Given the description of an element on the screen output the (x, y) to click on. 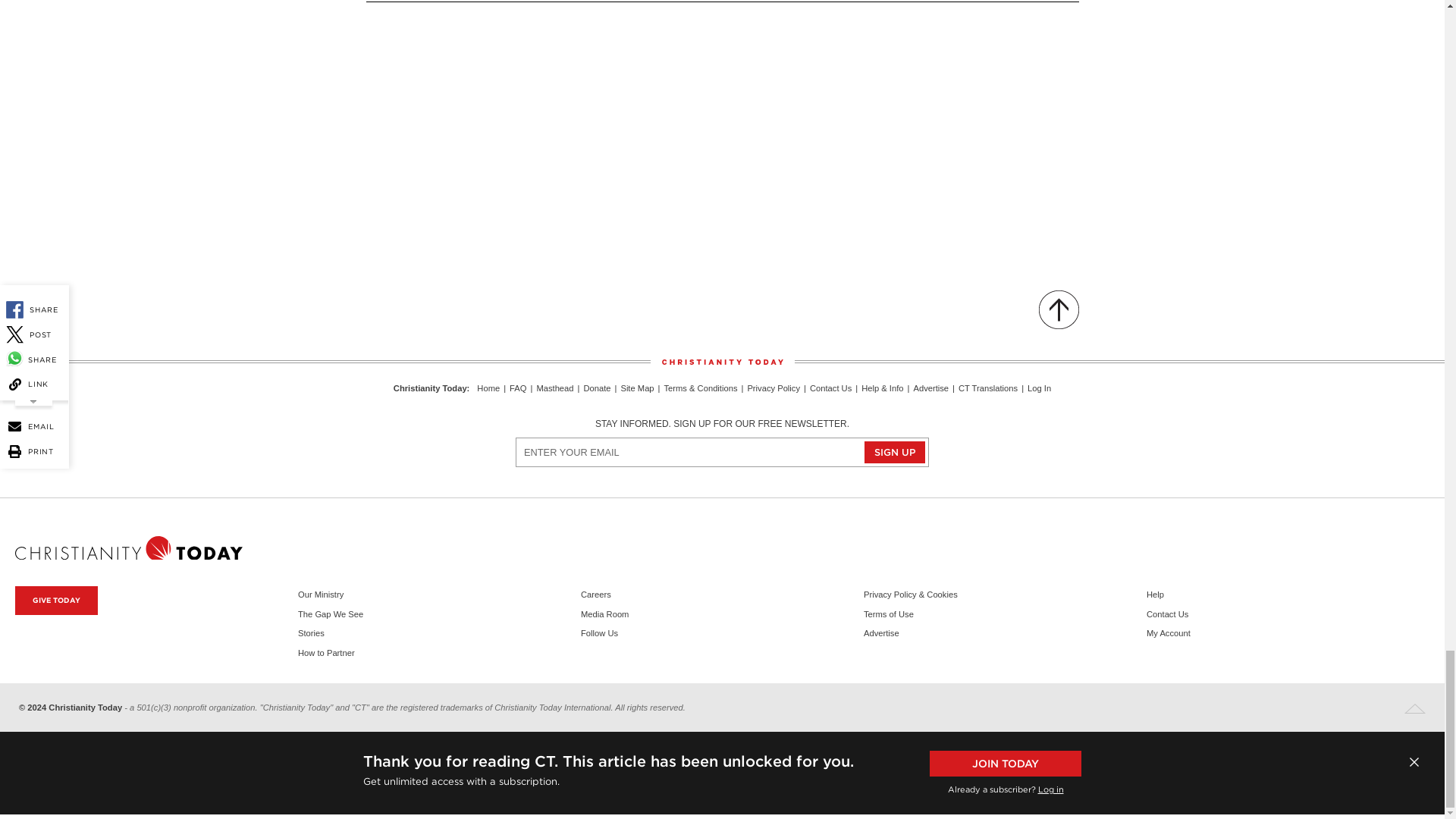
Sign Up (894, 452)
